Given the description of an element on the screen output the (x, y) to click on. 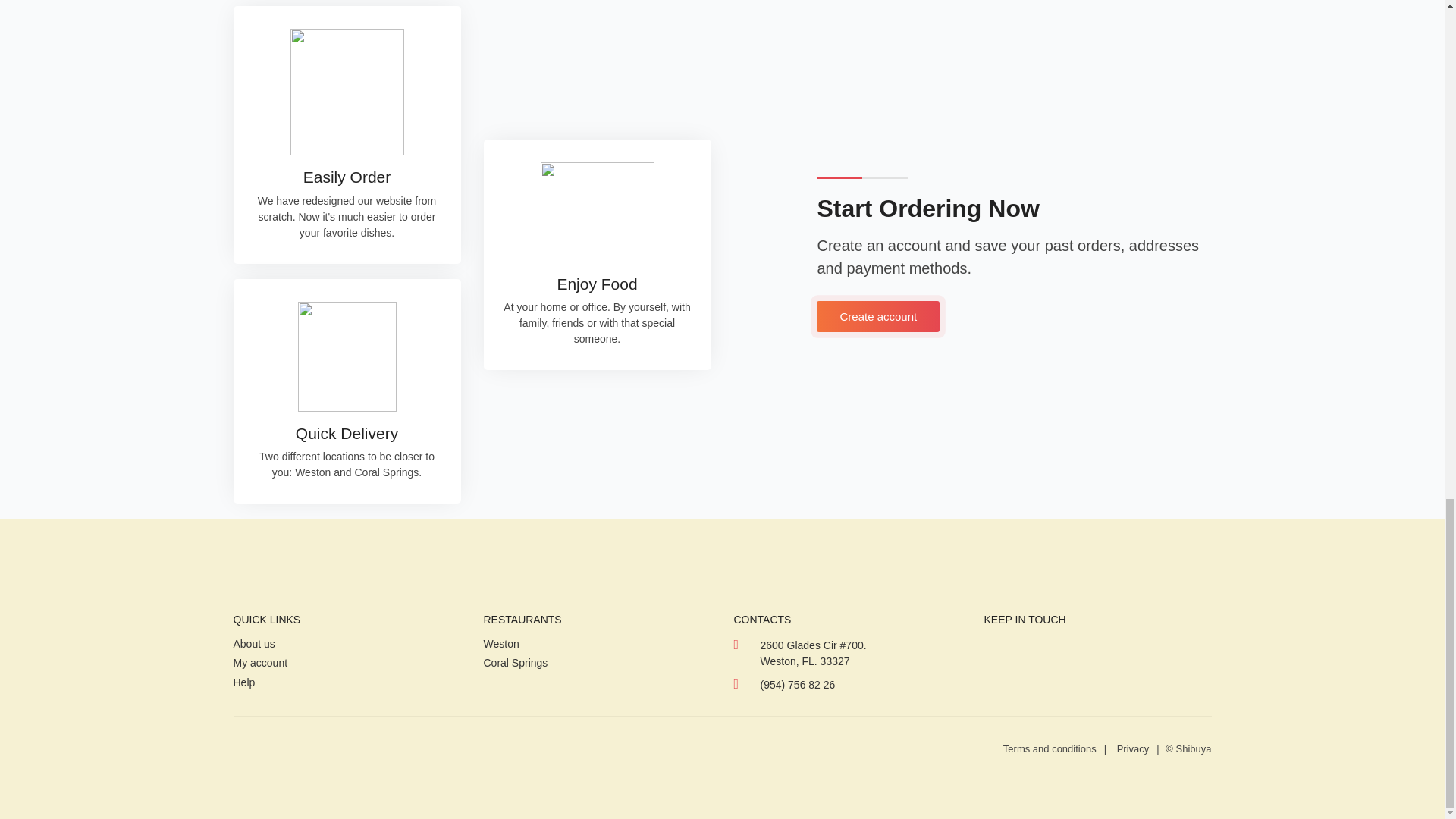
About us (257, 644)
Privacy (1133, 748)
Help (248, 683)
Terms and conditions (1049, 748)
Coral Springs (520, 663)
Create account (877, 316)
My account (264, 663)
Weston (505, 644)
